Given the description of an element on the screen output the (x, y) to click on. 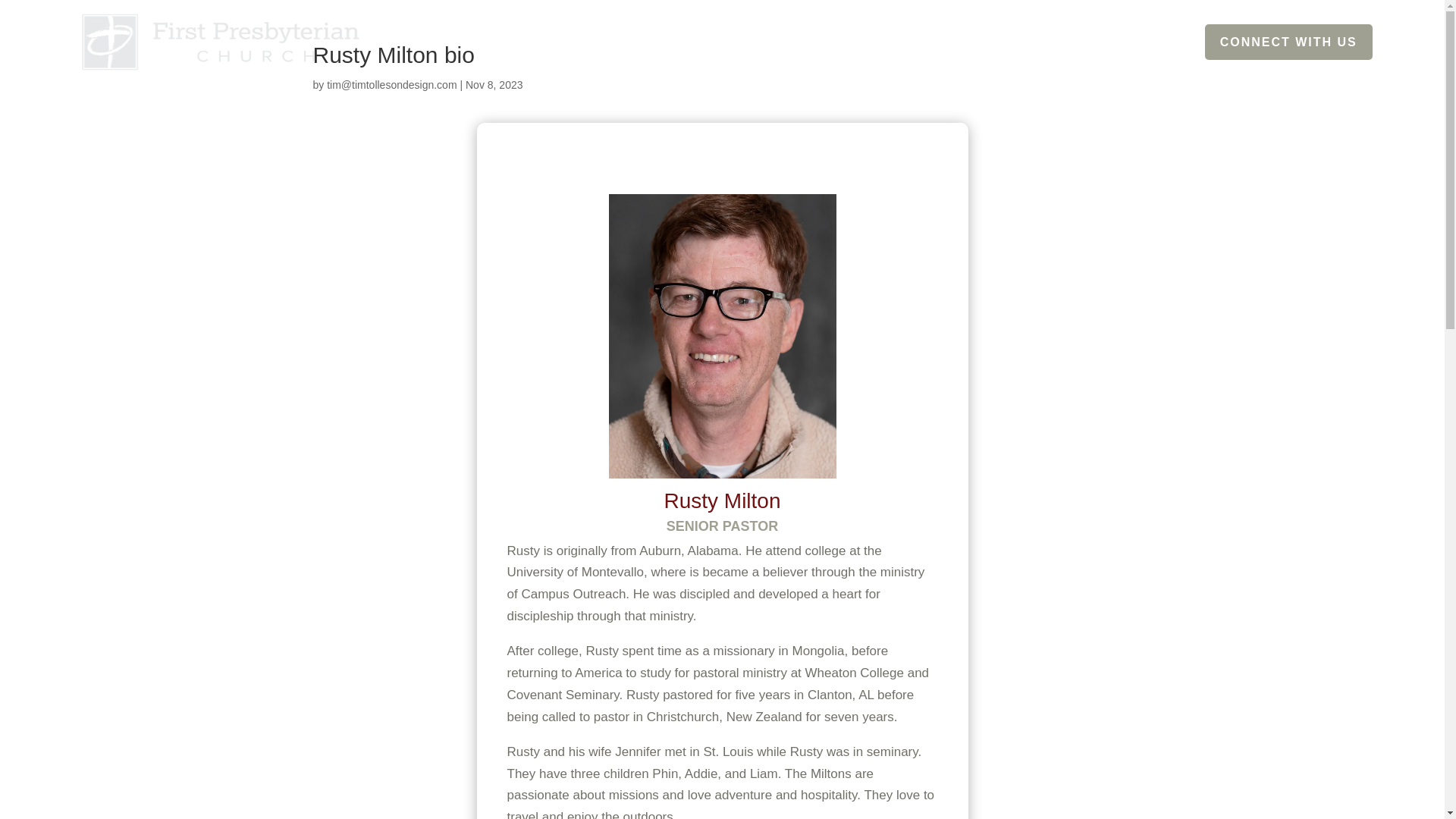
CONNECT WITH US (1289, 41)
Sermons (1118, 41)
Ministries (939, 41)
